Given the description of an element on the screen output the (x, y) to click on. 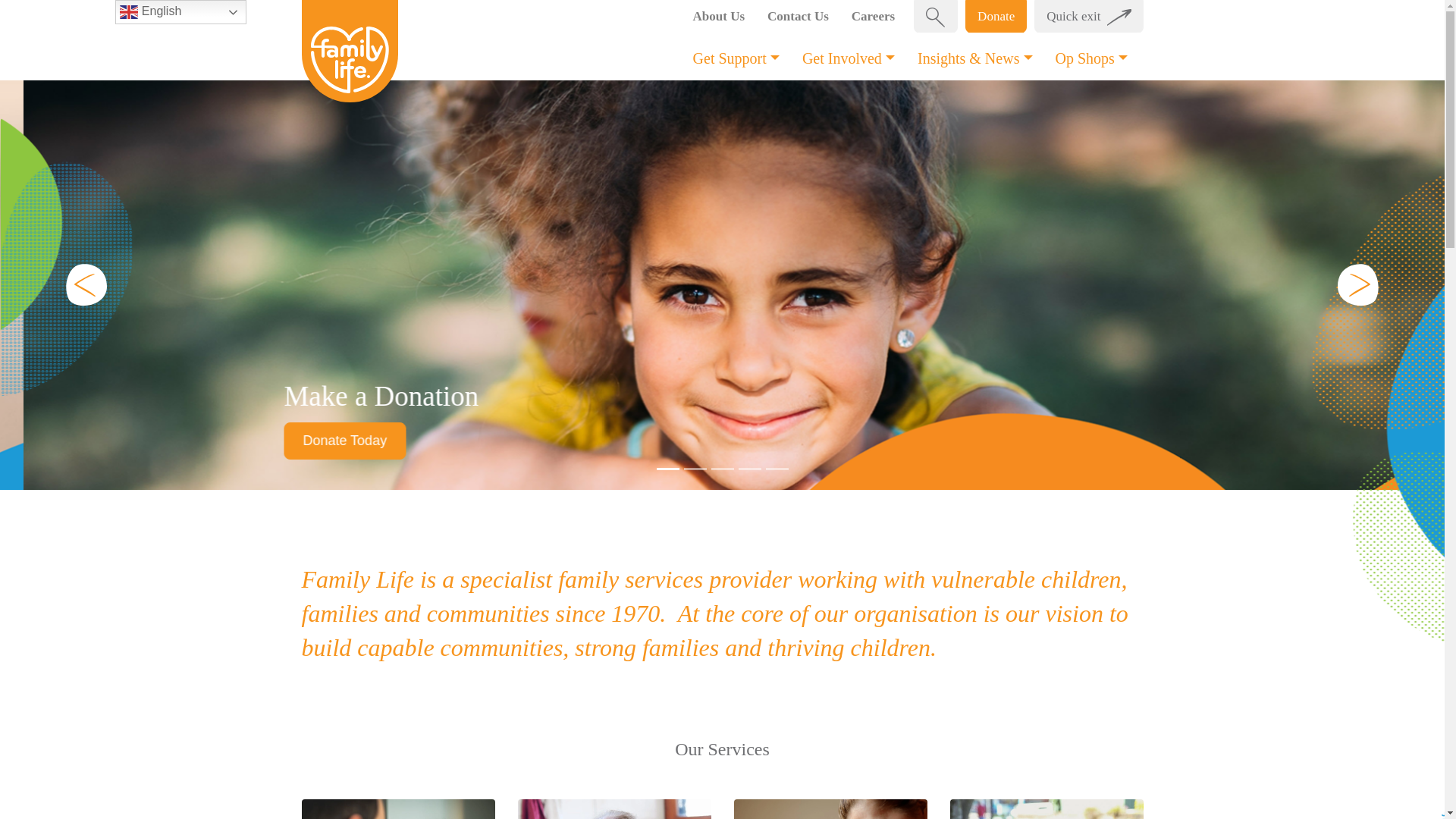
About Us Element type: text (718, 16)
Contact Us Element type: text (798, 16)
Previous Element type: text (86, 284)
Get Involved Element type: text (848, 58)
Op Shops Element type: text (1091, 58)
Careers Element type: text (873, 16)
Donate Element type: text (995, 16)
Insights & News Element type: text (975, 58)
Get Support Element type: text (735, 58)
Find out more Element type: text (321, 440)
Next Element type: text (1357, 284)
Quick exit Element type: text (1088, 16)
English Element type: text (180, 12)
